Given the description of an element on the screen output the (x, y) to click on. 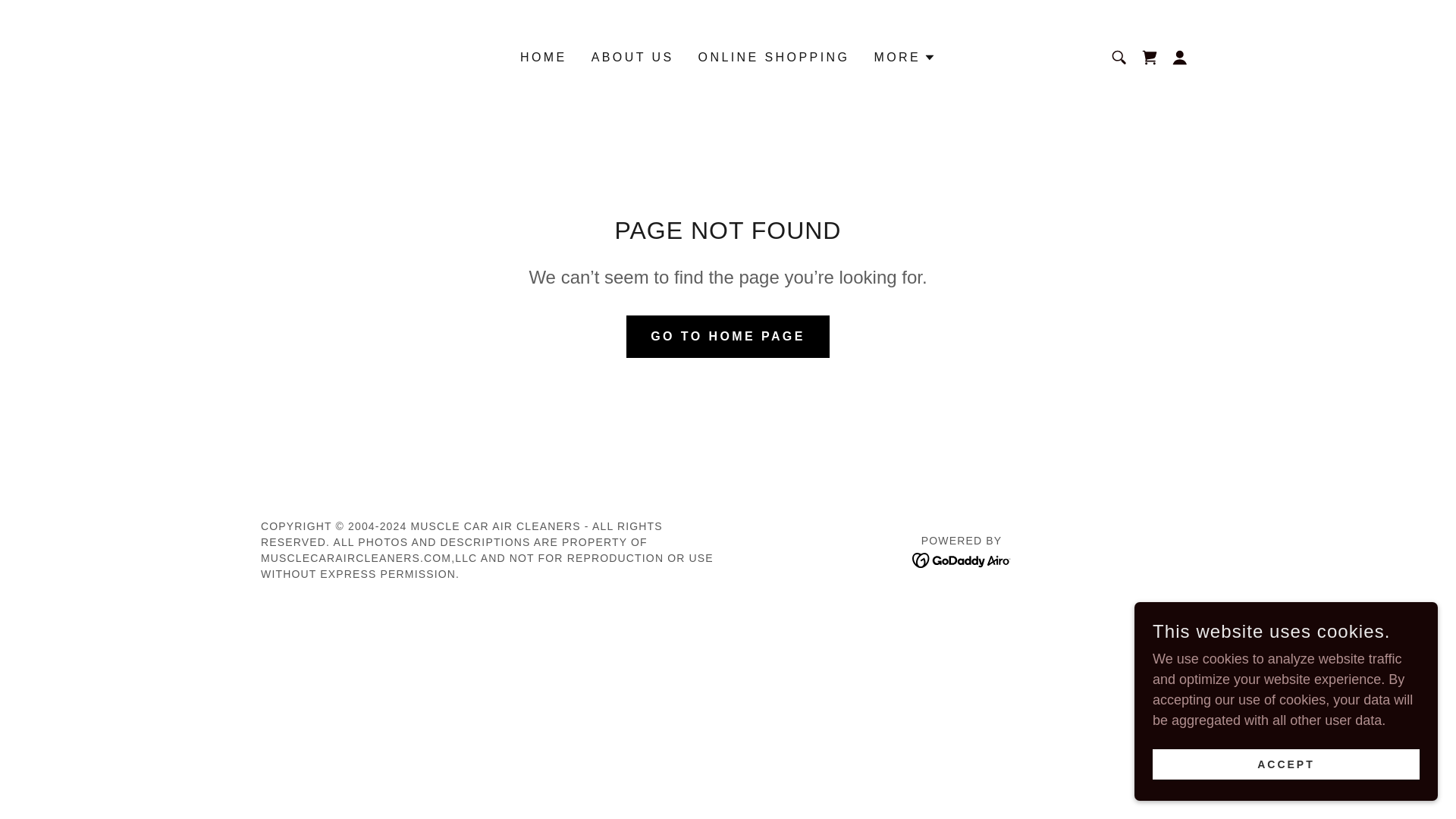
ABOUT US (632, 57)
MORE (904, 57)
HOME (543, 57)
ONLINE SHOPPING (774, 57)
